Given the description of an element on the screen output the (x, y) to click on. 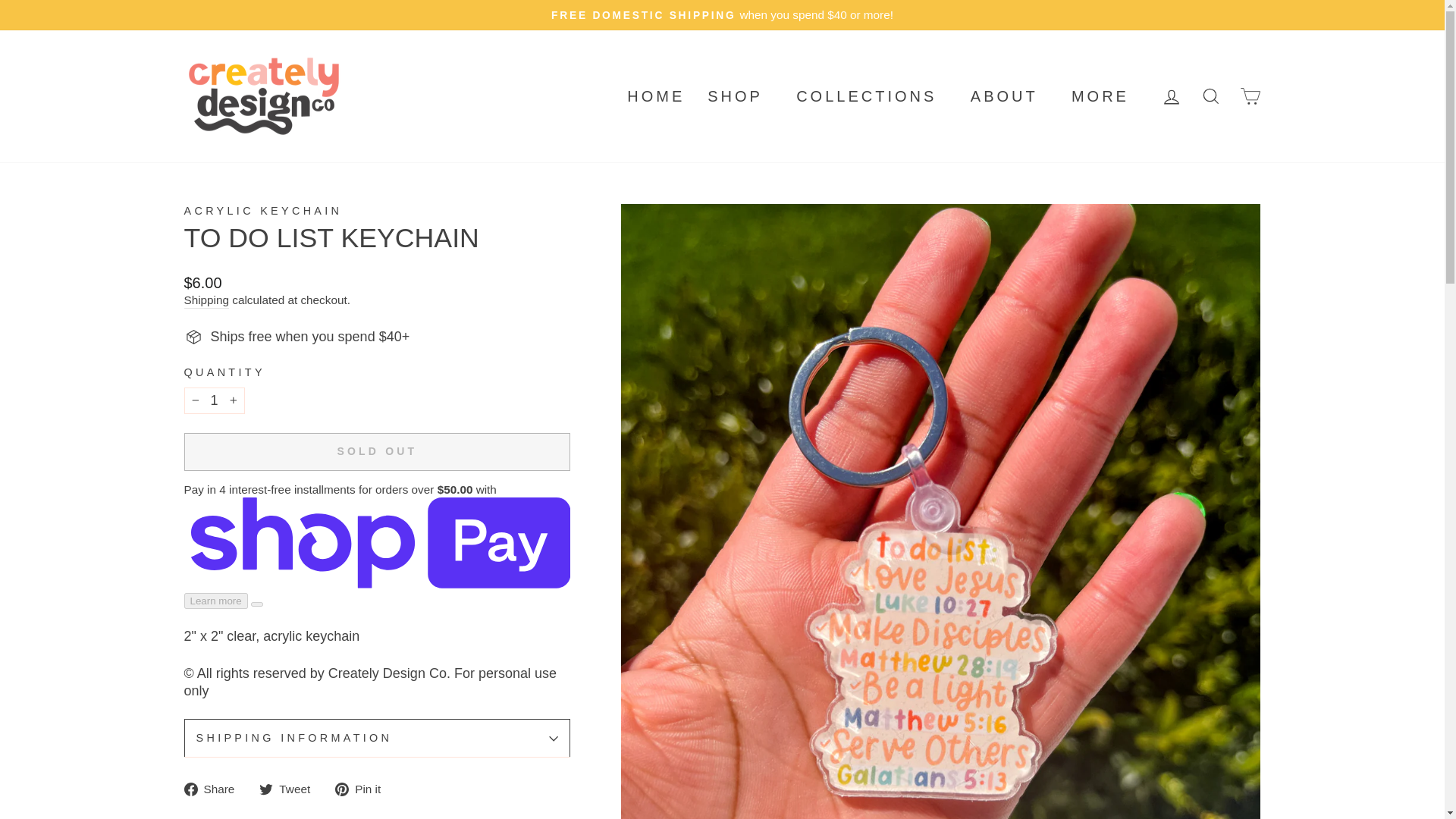
Acrylic Keychain (262, 210)
Share on Facebook (214, 788)
1 (213, 400)
Tweet on Twitter (290, 788)
ICON-SEARCH (1210, 96)
Pin on Pinterest (362, 788)
ACCOUNT (1170, 96)
twitter (266, 789)
